Given the description of an element on the screen output the (x, y) to click on. 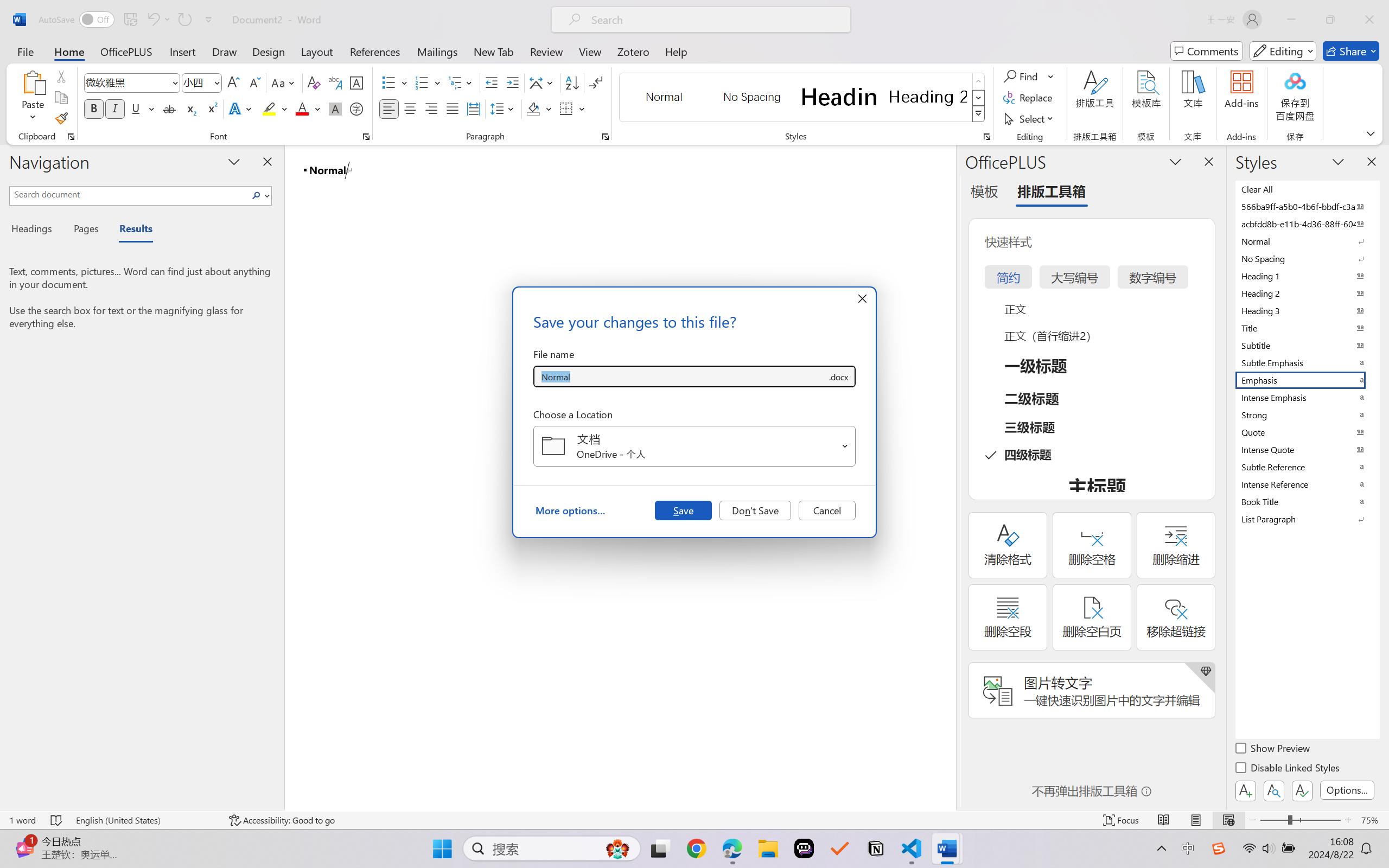
Heading 2 (927, 96)
Italic (115, 108)
Poe (804, 848)
Book Title (1306, 501)
Search (256, 195)
Font Size (201, 82)
Font Color (308, 108)
Minimize (1291, 19)
